Given the description of an element on the screen output the (x, y) to click on. 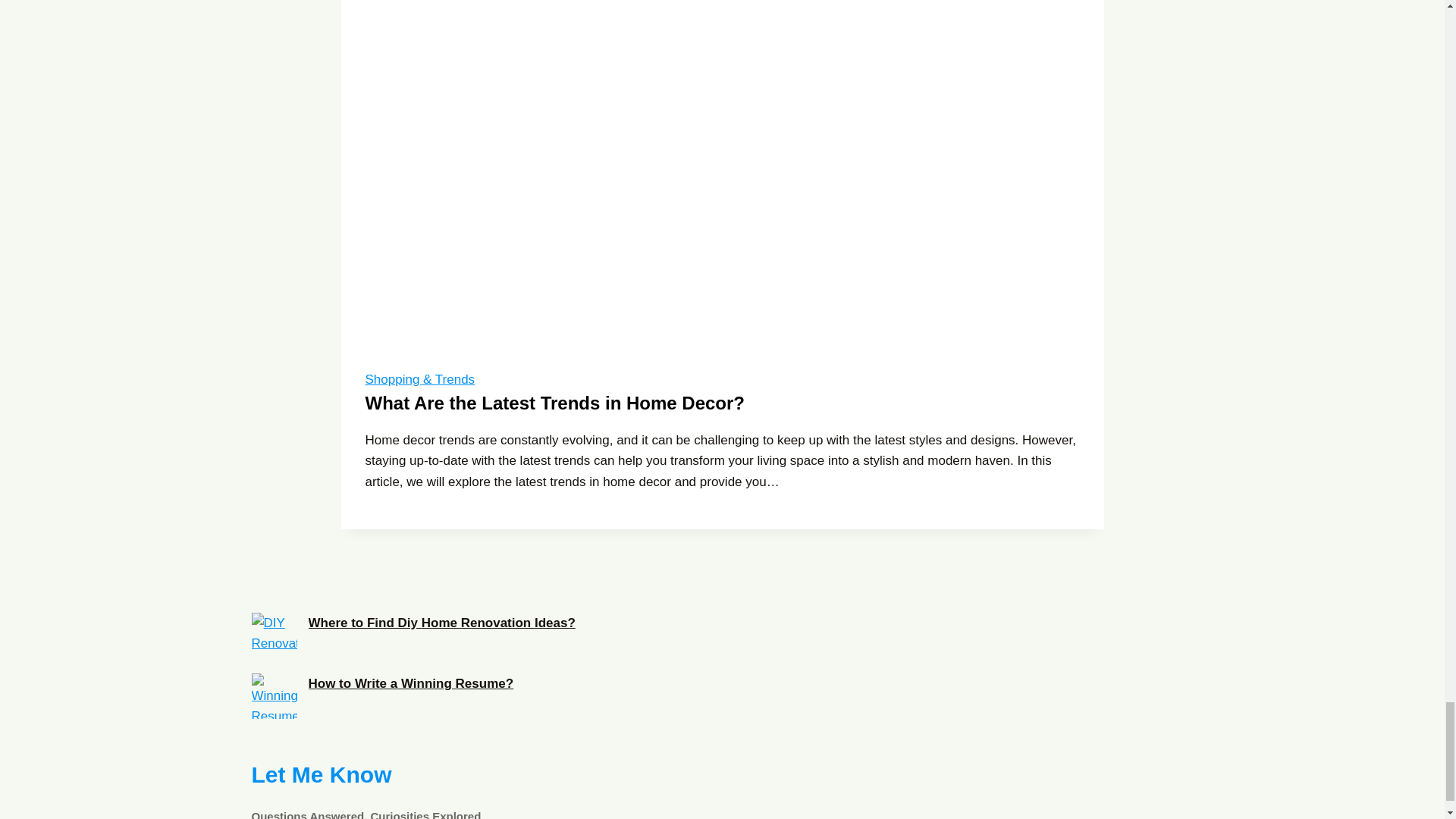
How to Write a Winning Resume? (274, 696)
How to Write a Winning Resume? (410, 683)
What Are the Latest Trends in Home Decor? (555, 403)
Where to Find Diy Home Renovation Ideas? (722, 787)
Where to Find Diy Home Renovation Ideas? (274, 635)
